Given the description of an element on the screen output the (x, y) to click on. 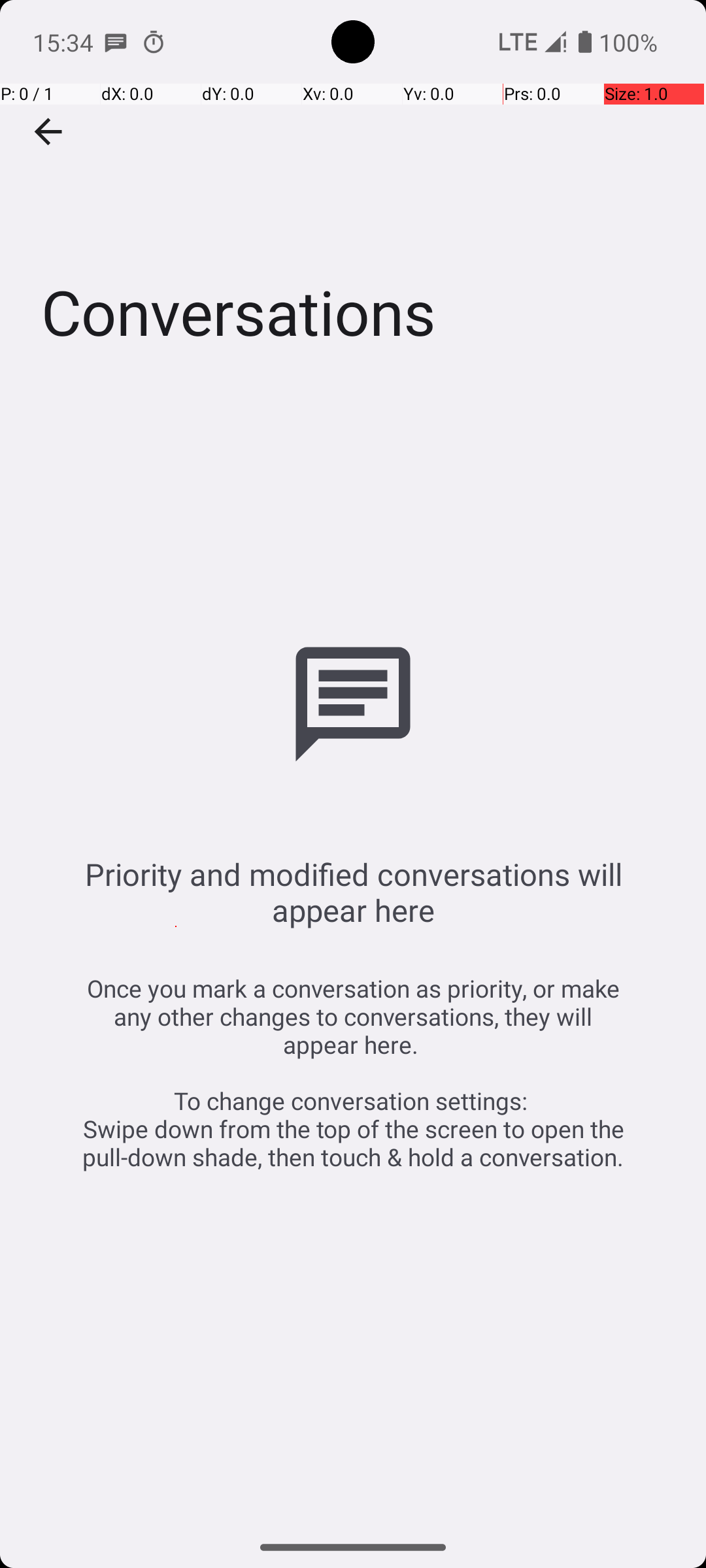
Priority and modified conversations will appear here Element type: android.widget.TextView (352, 891)
Once you mark a conversation as priority, or make any other changes to conversations, they will appear here. 

To change conversation settings: 
Swipe down from the top of the screen to open the pull-down shade, then touch & hold a conversation. Element type: android.widget.TextView (352, 1072)
